Given the description of an element on the screen output the (x, y) to click on. 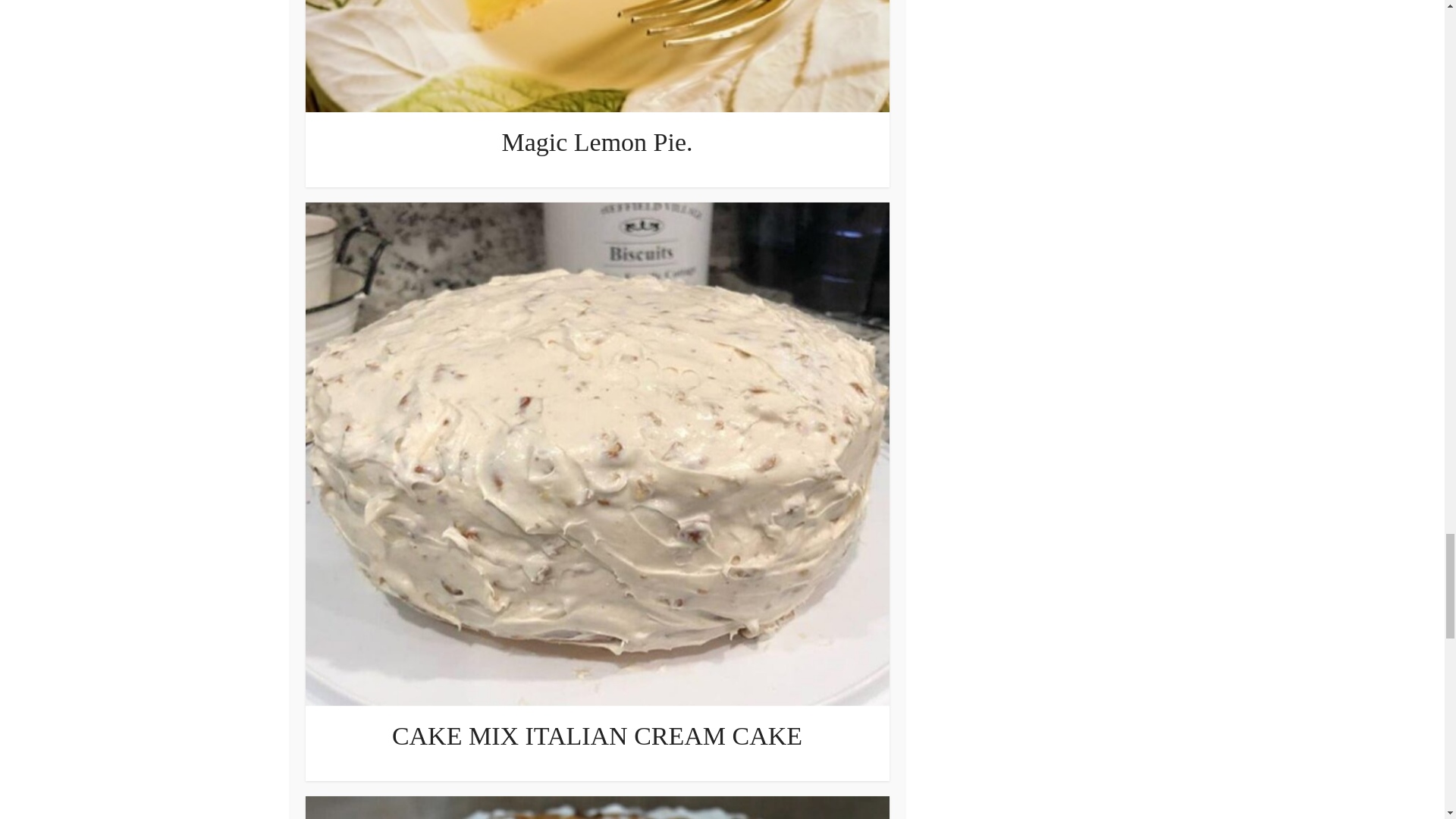
Magic Lemon Pie. (596, 141)
CAKE MIX ITALIAN CREAM CAKE (596, 735)
CAKE MIX ITALIAN CREAM CAKE (596, 735)
Magic Lemon Pie. (596, 141)
